Given the description of an element on the screen output the (x, y) to click on. 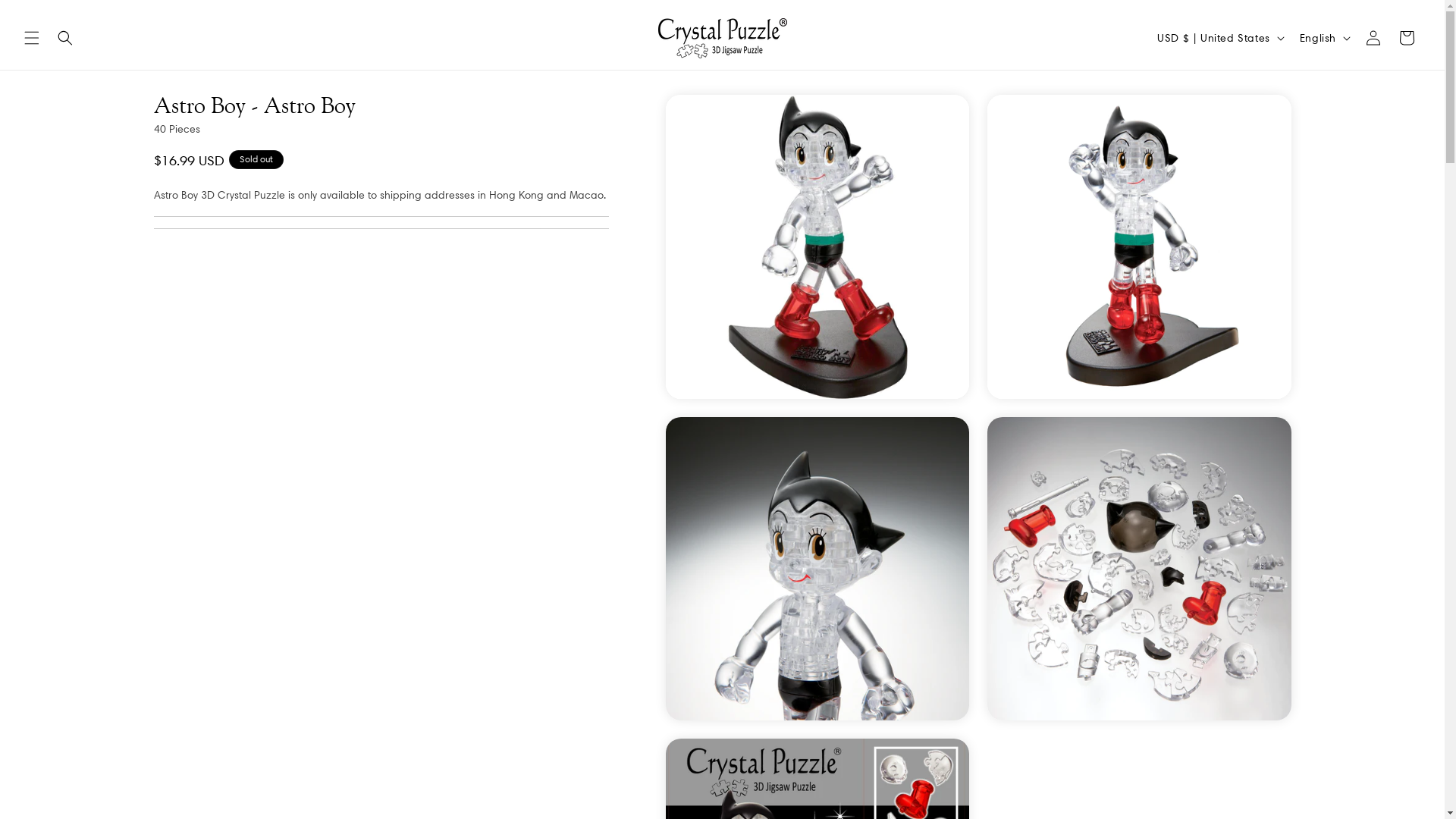
USD $ | United States Element type: text (1219, 37)
English Element type: text (1323, 37)
Cart Element type: text (1406, 37)
Log in Element type: text (1373, 37)
